Given the description of an element on the screen output the (x, y) to click on. 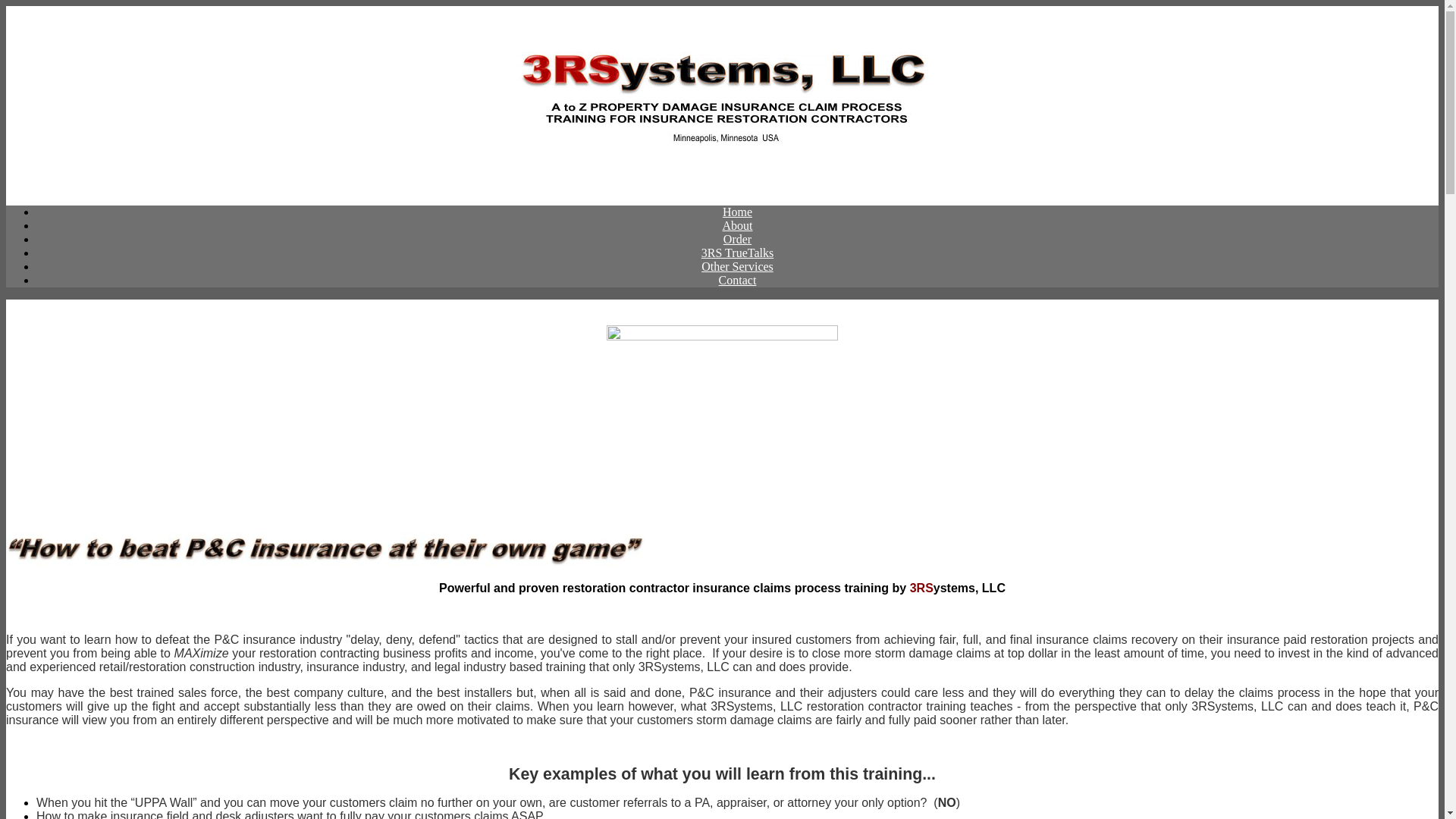
Other Services Element type: text (737, 266)
3RS TrueTalks Element type: text (737, 252)
Order Element type: text (737, 238)
3rs Element type: hover (722, 99)
Home Element type: text (737, 211)
Contact Element type: text (737, 279)
About Element type: text (736, 225)
